Given the description of an element on the screen output the (x, y) to click on. 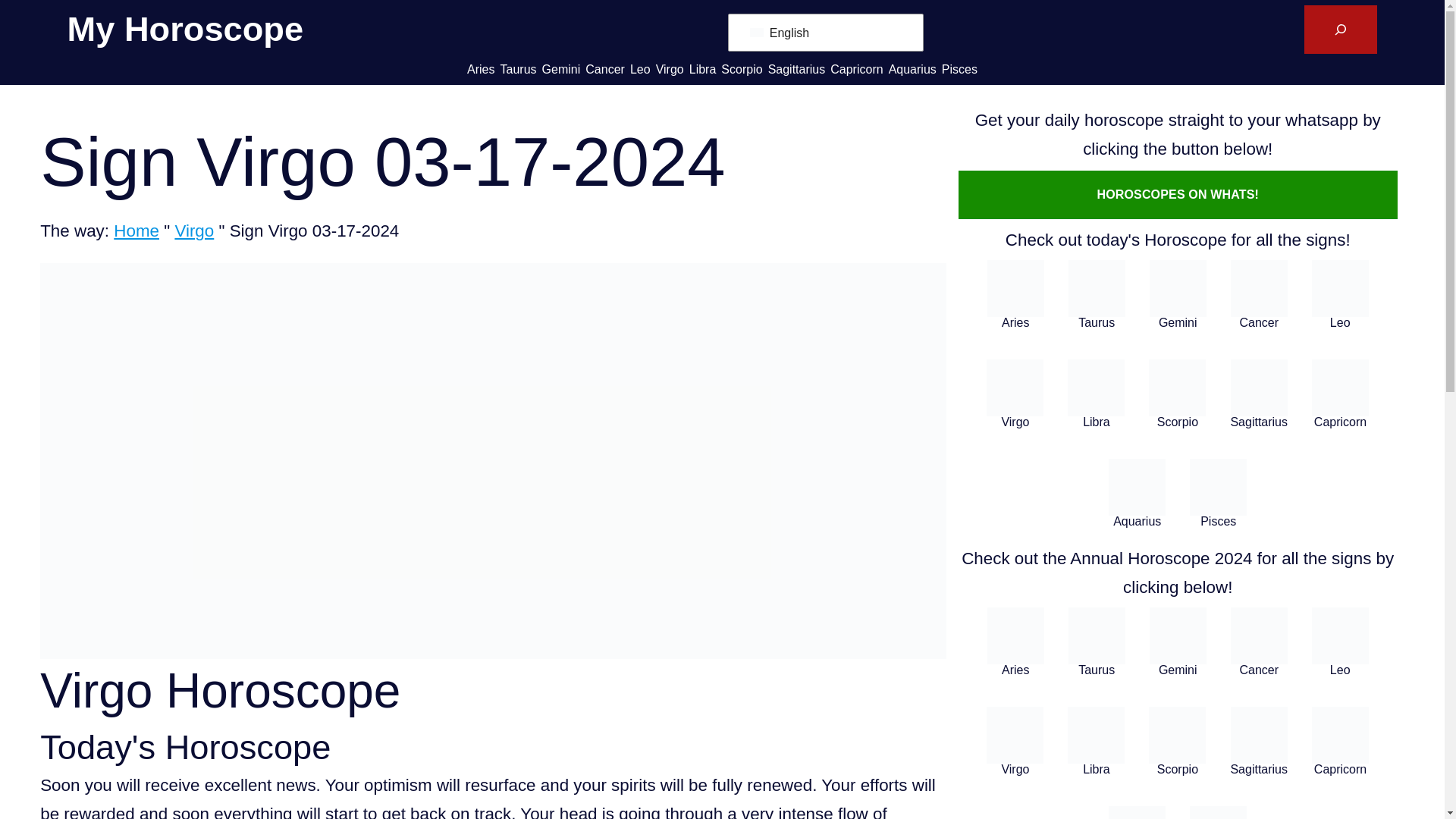
Virgo (194, 230)
Gemini (560, 68)
Virgo (670, 68)
Aquarius (912, 68)
English (822, 32)
Leo (640, 68)
Pisces (959, 68)
English (755, 31)
Capricorn (855, 68)
Home (135, 230)
